Given the description of an element on the screen output the (x, y) to click on. 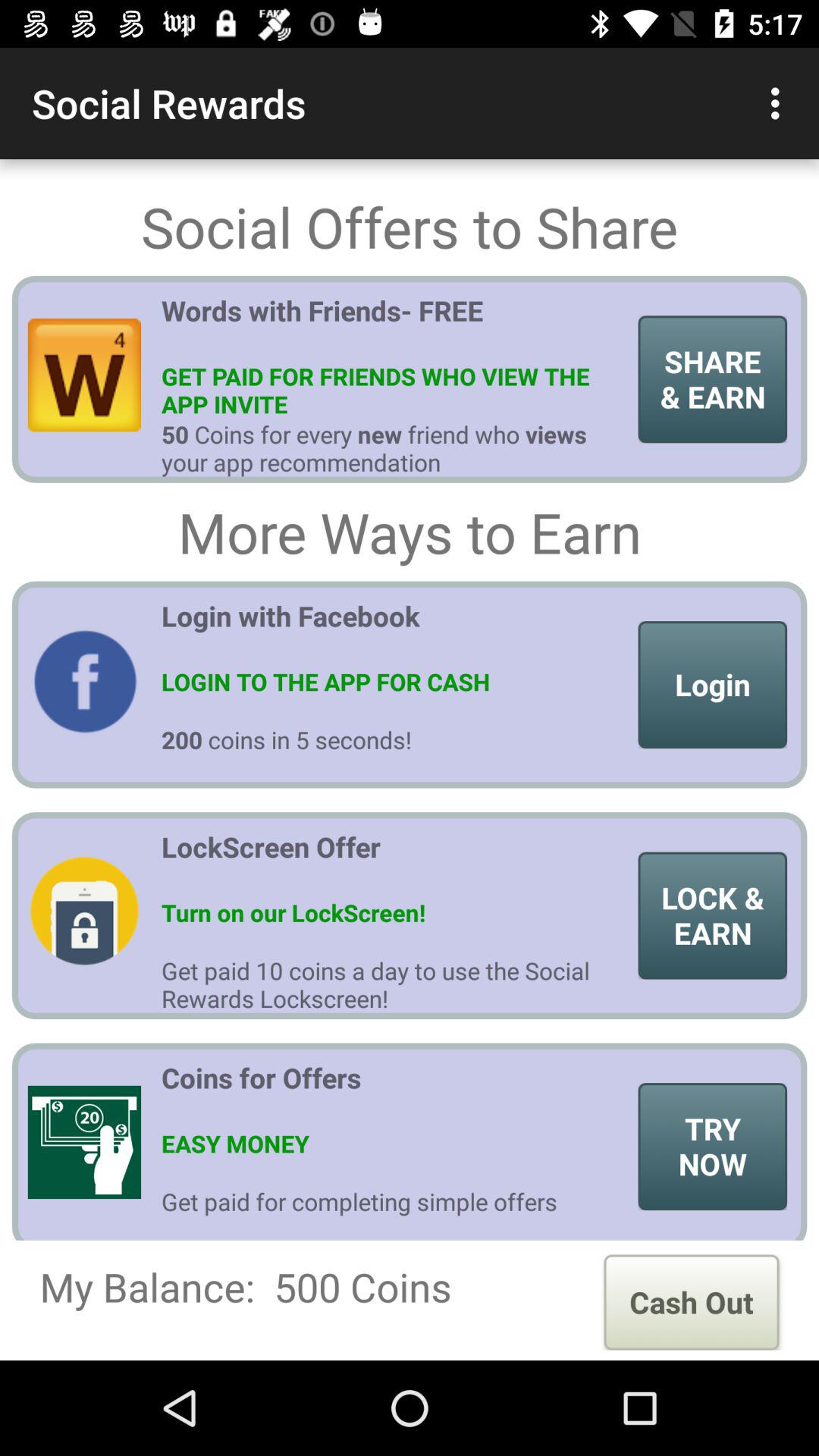
tap the item to the right of lockscreen offer icon (712, 915)
